Given the description of an element on the screen output the (x, y) to click on. 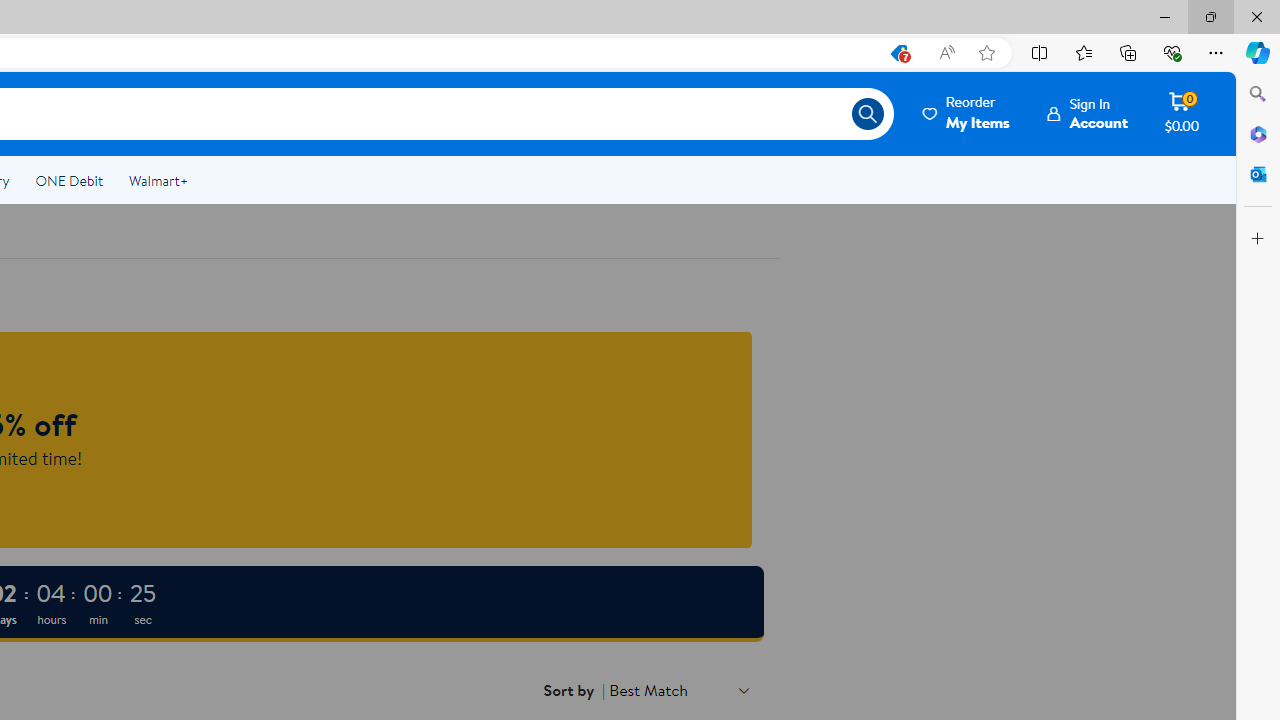
Walmart+ (158, 180)
Search icon (867, 113)
ONE Debit (68, 180)
Sign InAccount (1088, 113)
This site has coupons! Shopping in Microsoft Edge, 7 (898, 53)
Walmart+ (158, 180)
Class: ld ld-ChevronDown pa0 ml6 (744, 690)
Sign In Account (1088, 113)
